Given the description of an element on the screen output the (x, y) to click on. 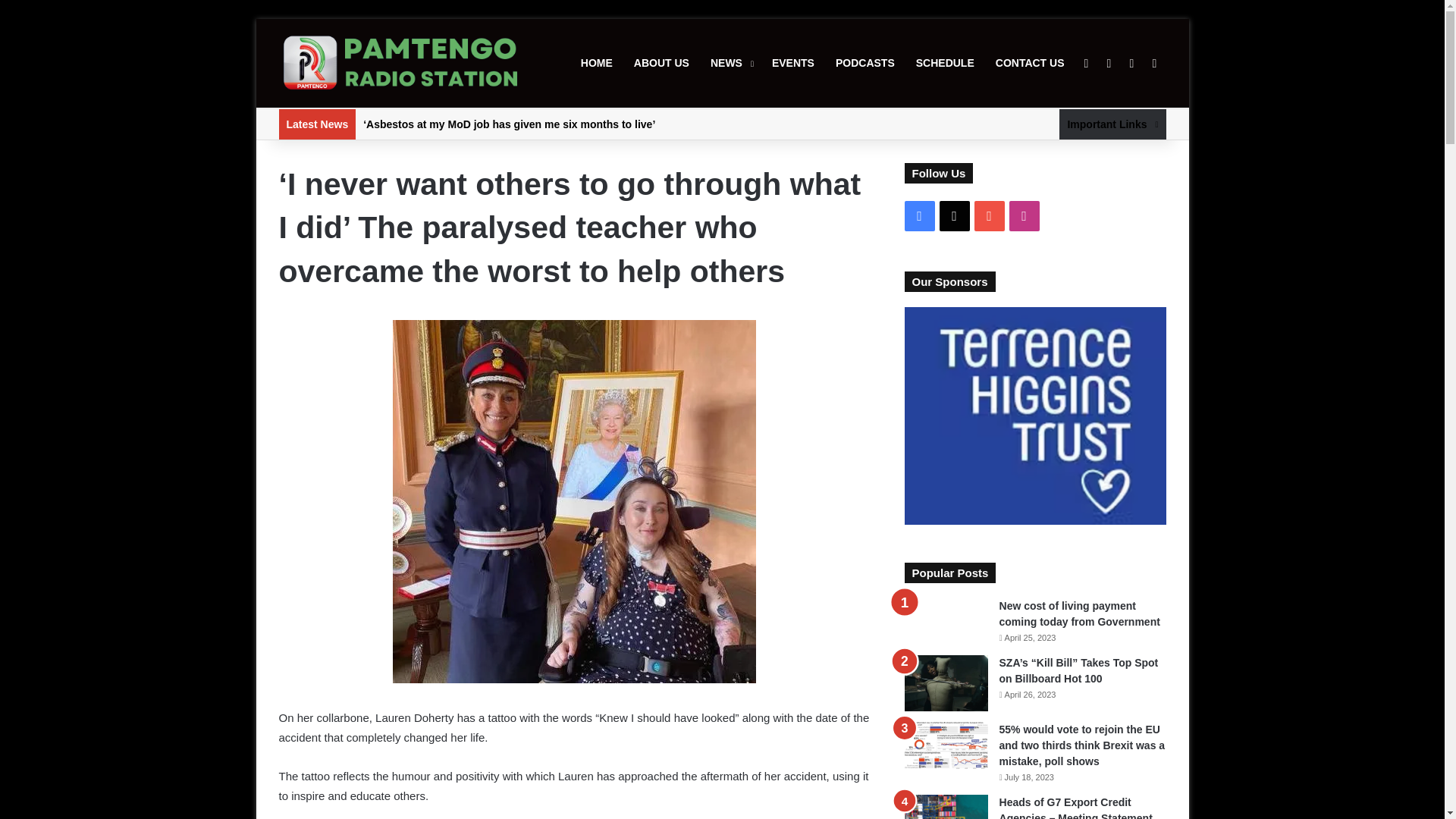
SCHEDULE (945, 62)
CONTACT US (1030, 62)
PAMTENGO RADIO (400, 63)
Important Links (1112, 123)
PODCASTS (865, 62)
